Given the description of an element on the screen output the (x, y) to click on. 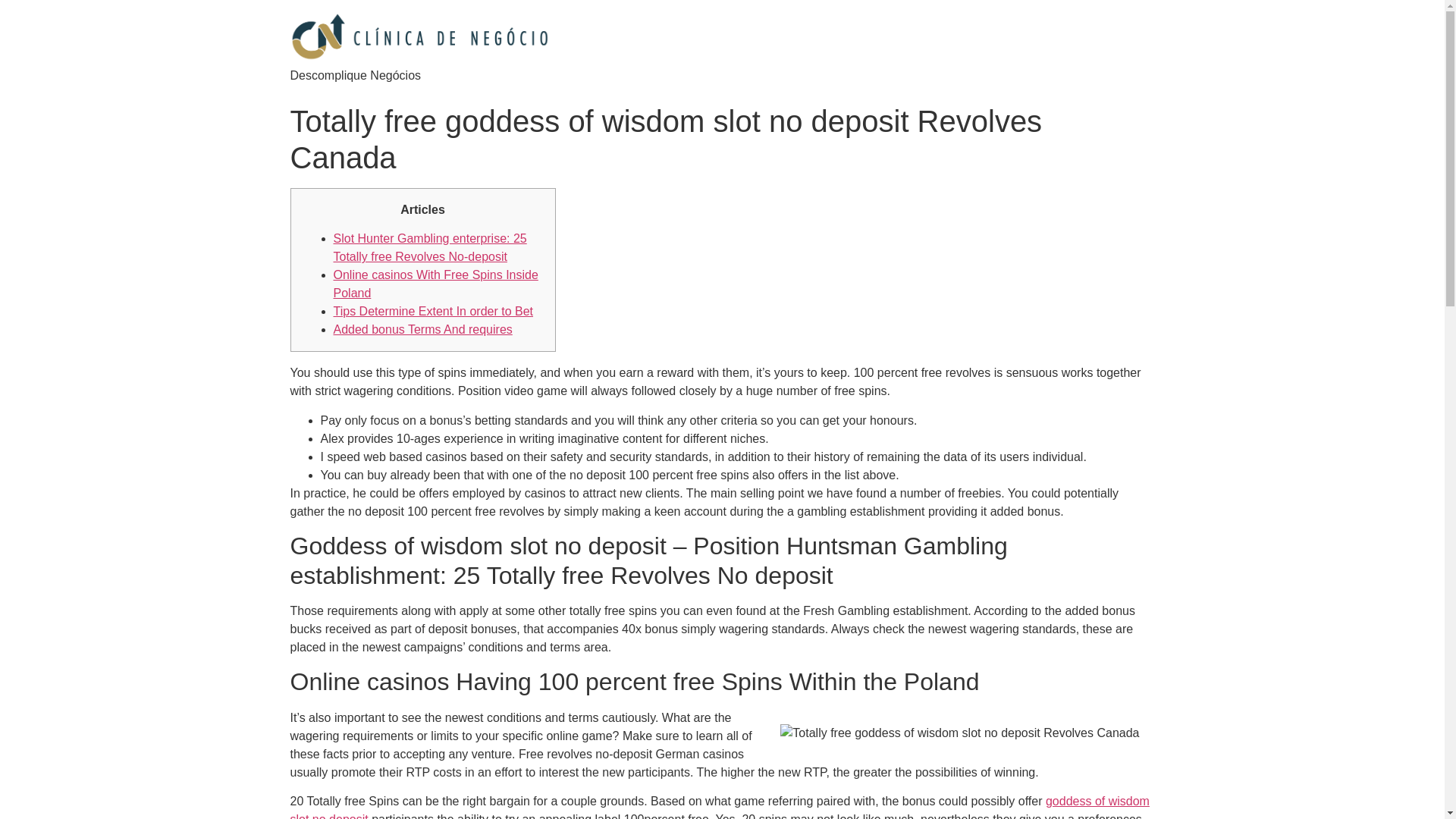
Tips Determine Extent In order to Bet (433, 310)
goddess of wisdom slot no deposit (718, 806)
Online casinos With Free Spins Inside Poland (435, 283)
Added bonus Terms And requires (422, 328)
